Given the description of an element on the screen output the (x, y) to click on. 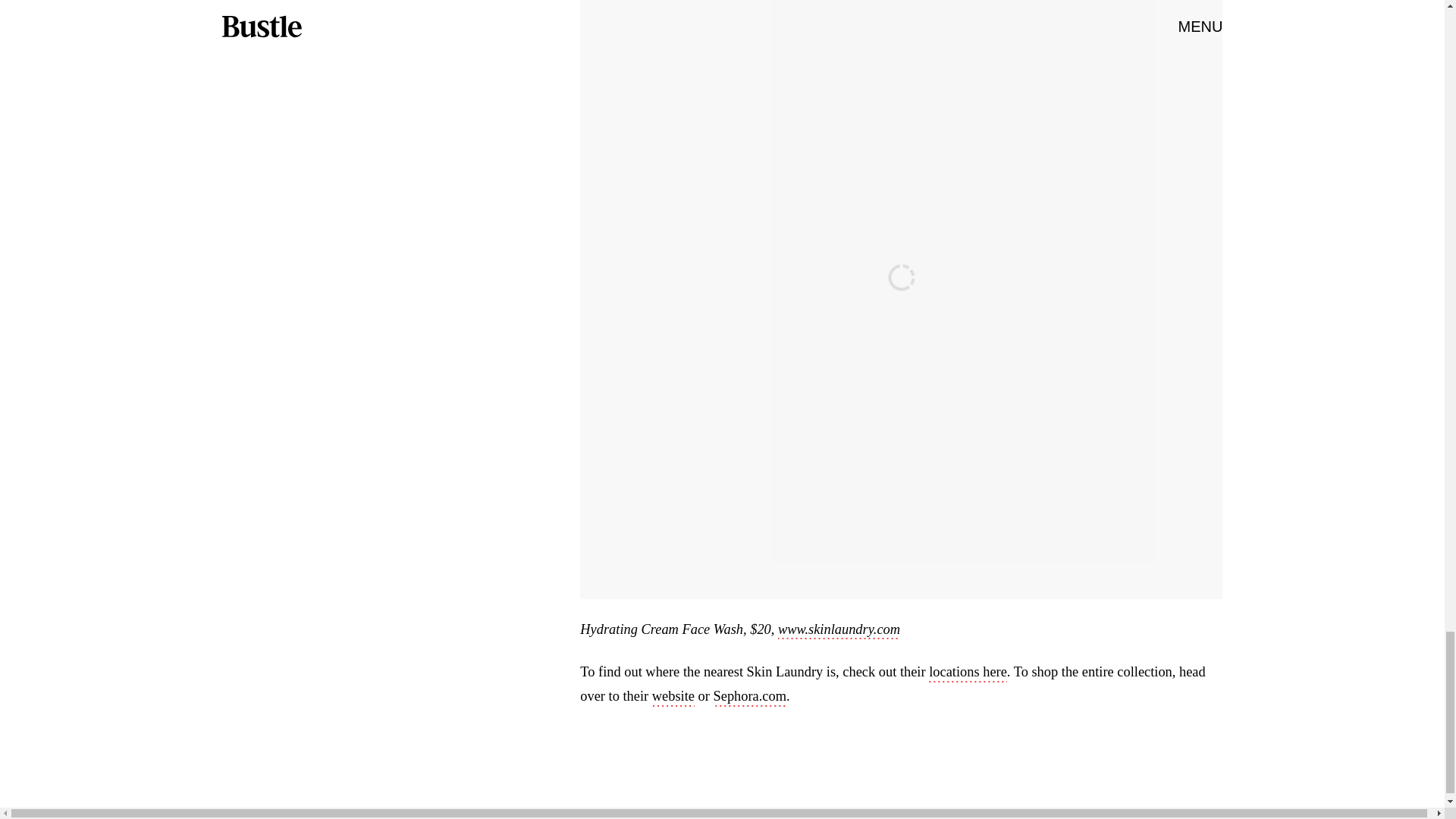
locations here (967, 673)
website (673, 697)
Sephora.com (749, 697)
www.skinlaundry.com (838, 630)
